Given the description of an element on the screen output the (x, y) to click on. 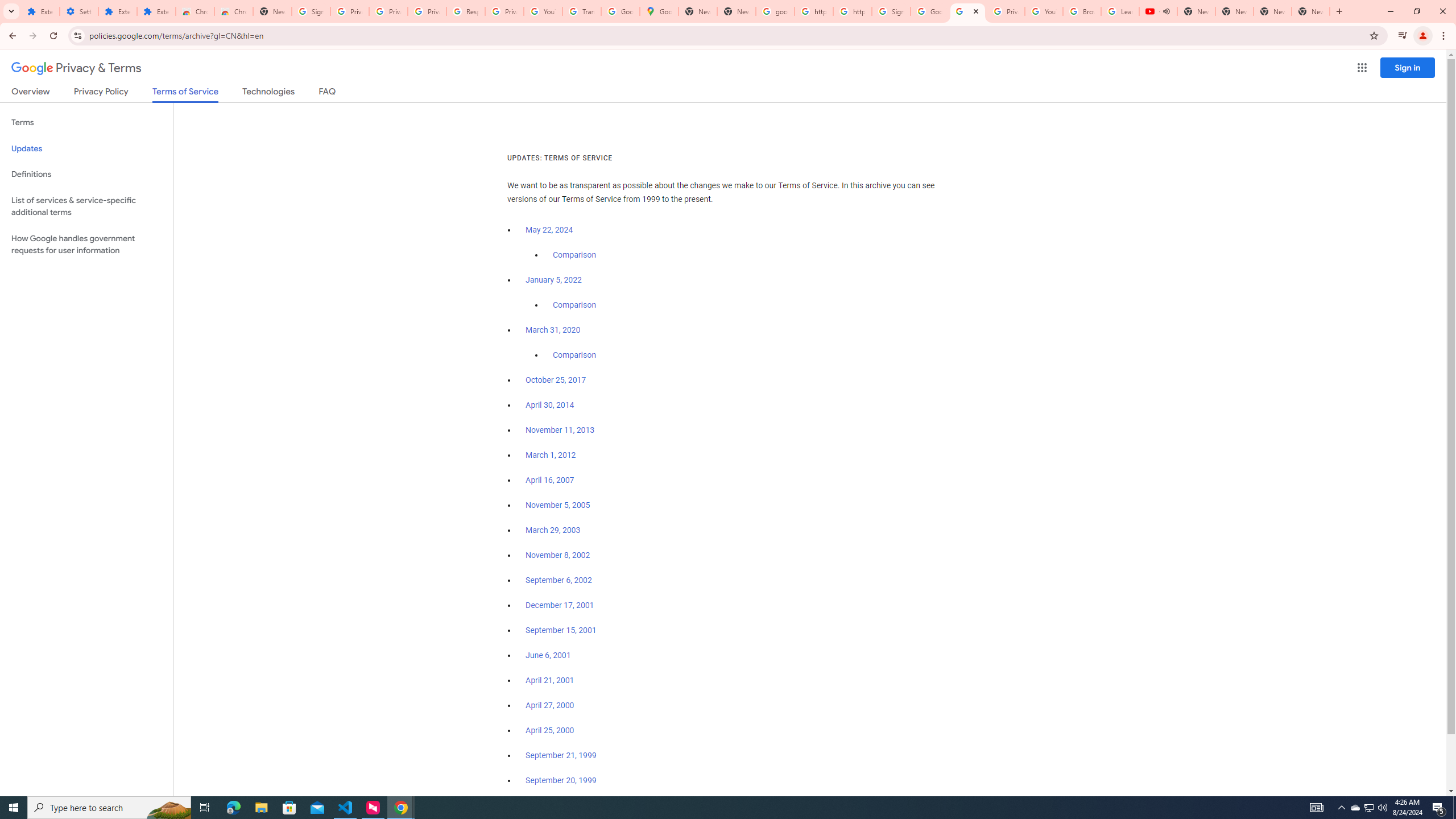
November 5, 2005 (557, 505)
YouTube (1043, 11)
January 5, 2022 (553, 280)
November 8, 2002 (557, 555)
YouTube (542, 11)
April 27, 2000 (550, 705)
March 29, 2003 (552, 530)
